Given the description of an element on the screen output the (x, y) to click on. 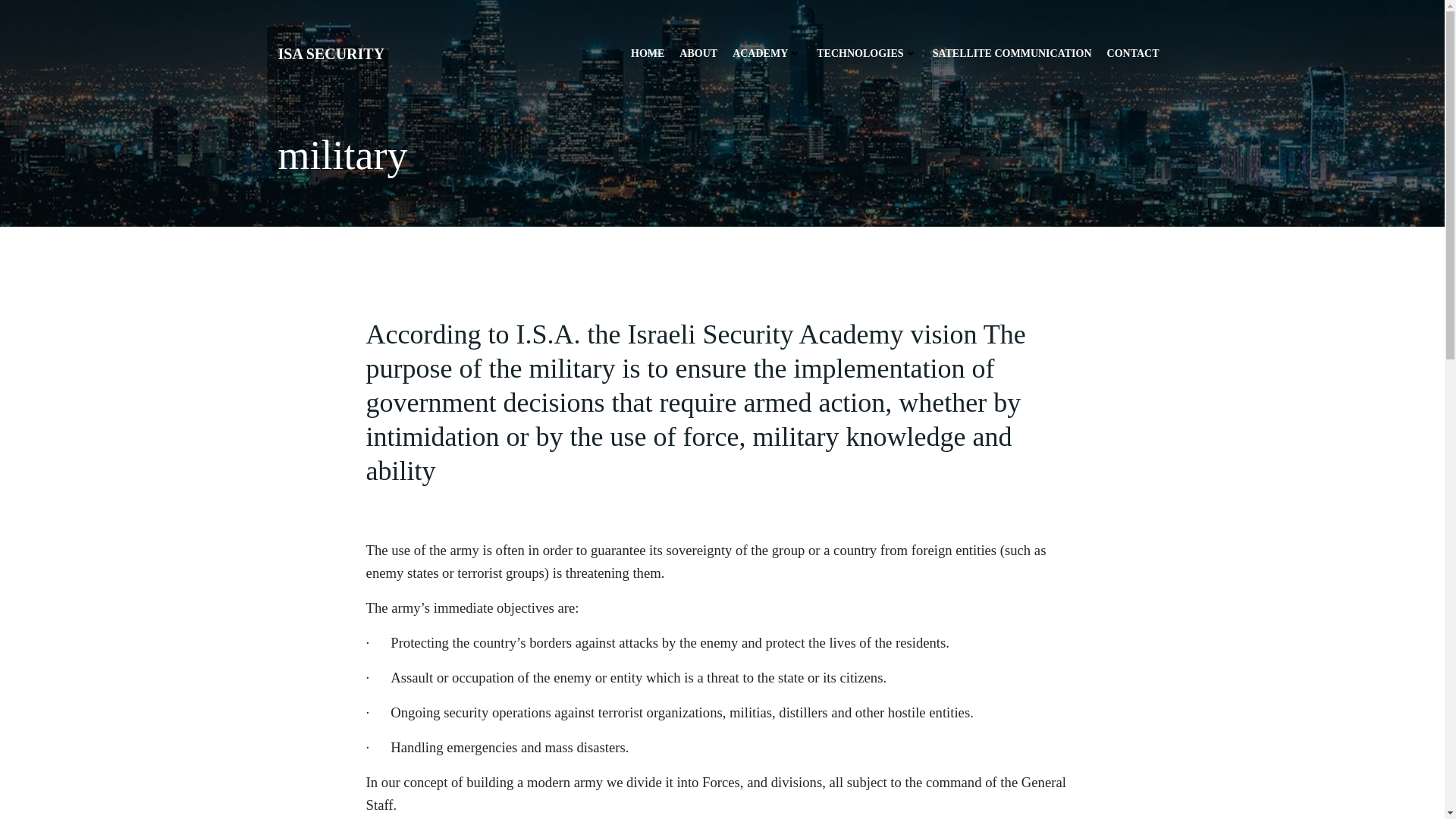
TECHNOLOGIES (866, 53)
SATELLITE COMMUNICATION (1012, 53)
ACADEMY (767, 53)
HOME (646, 53)
CONTACT (1132, 53)
ISA SECURITY (331, 53)
ABOUT (698, 53)
